Given the description of an element on the screen output the (x, y) to click on. 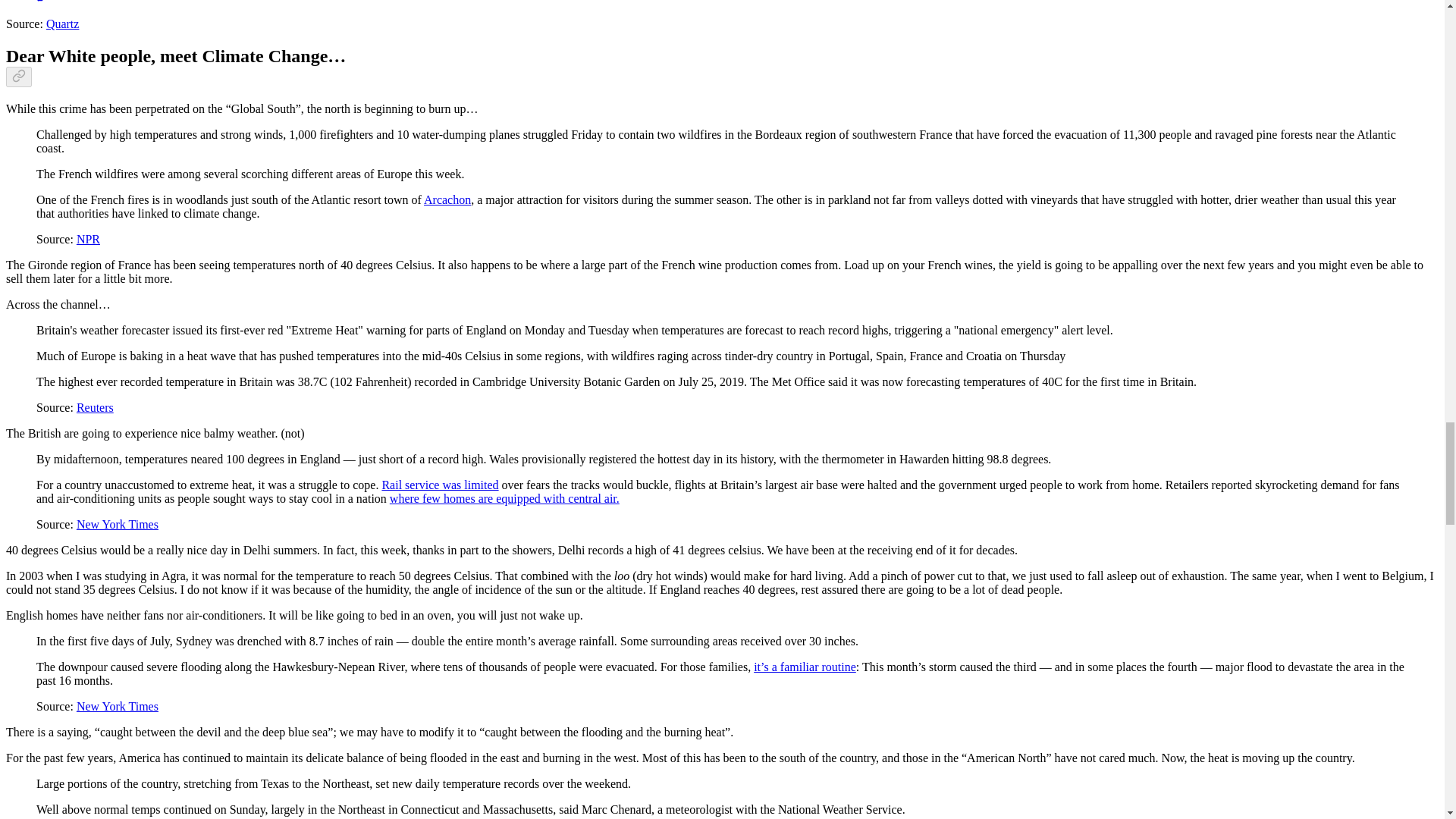
Quartz (63, 23)
New York Times (117, 523)
New York Times (117, 706)
Reuters (95, 407)
NPR (88, 238)
Rail service was limited (439, 484)
where few homes are equipped with central air. (505, 498)
Arcachon (446, 199)
